Given the description of an element on the screen output the (x, y) to click on. 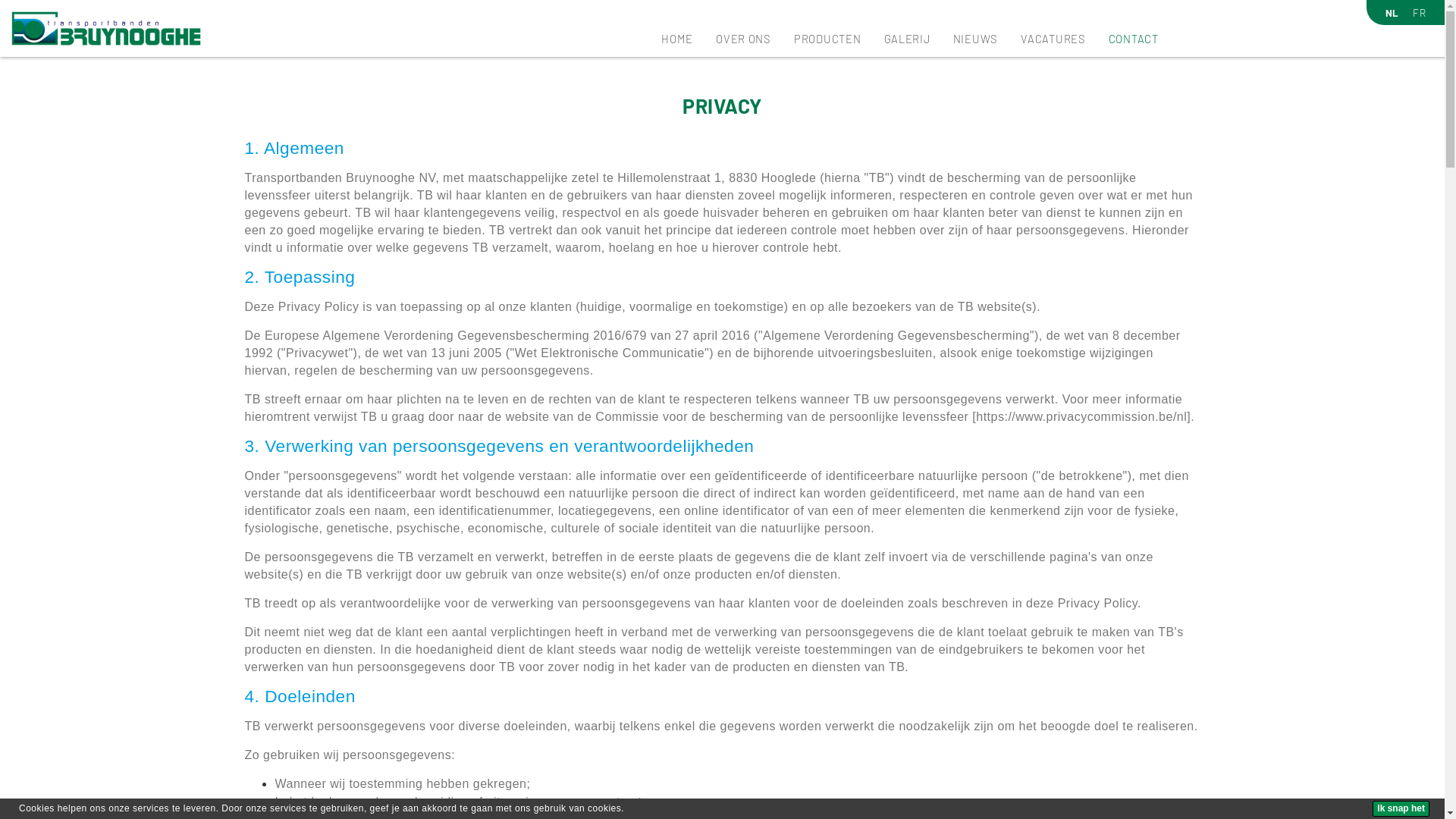
VACATURES Element type: text (1053, 38)
GALERIJ Element type: text (906, 38)
OVER ONS Element type: text (743, 38)
HOME Element type: text (676, 38)
FR Element type: text (1417, 12)
CONTACT Element type: text (1133, 38)
NIEUWS Element type: text (975, 38)
PRODUCTEN Element type: text (827, 38)
NL Element type: text (1389, 12)
